Given the description of an element on the screen output the (x, y) to click on. 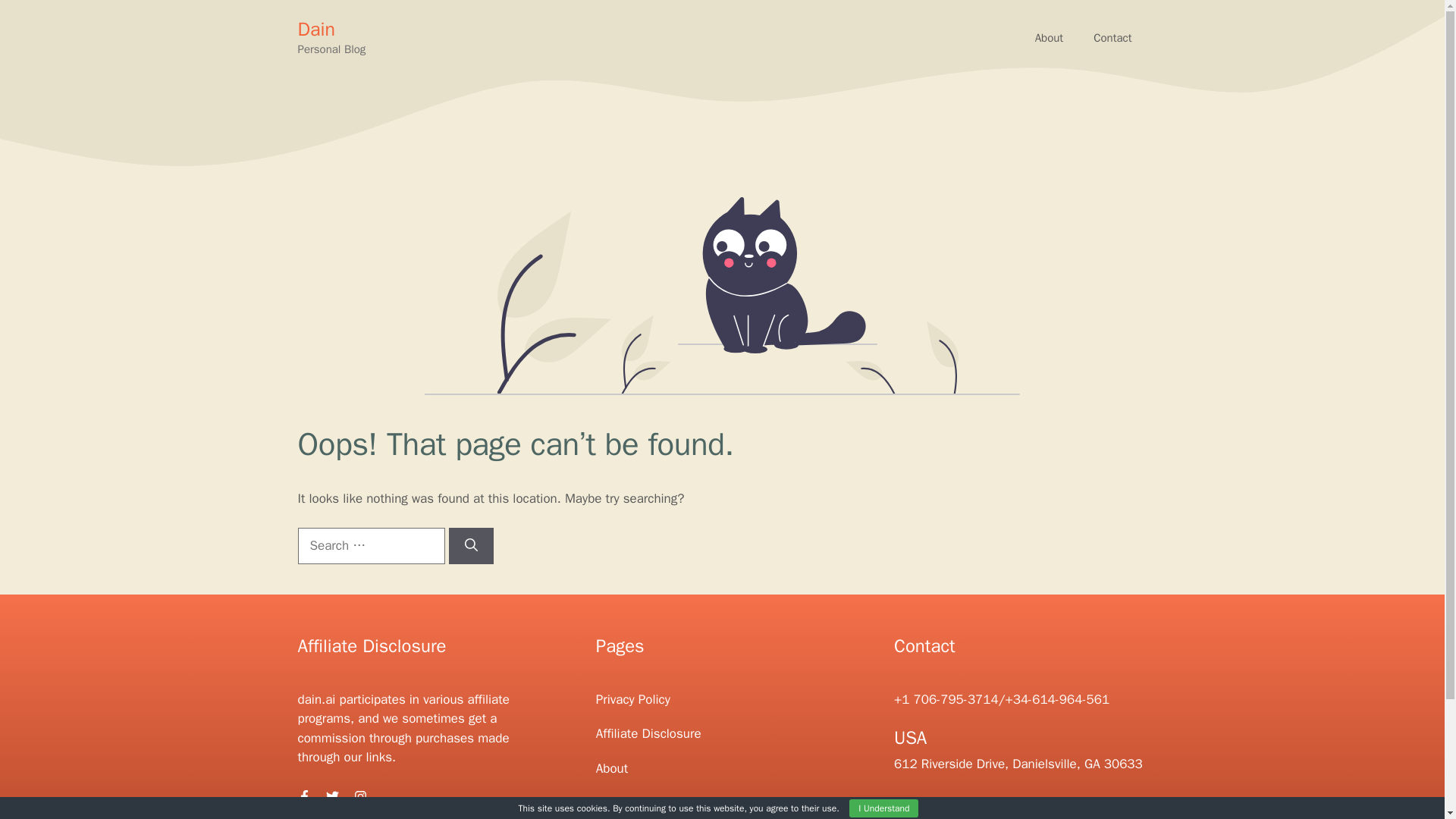
About (611, 768)
I Understand (883, 808)
Privacy Policy (632, 699)
Contact (1112, 37)
Search for: (370, 545)
Contact (1112, 37)
About (1049, 37)
Affiliate Disclosure (648, 733)
About (1049, 37)
Dain (315, 28)
Contact (617, 802)
